Given the description of an element on the screen output the (x, y) to click on. 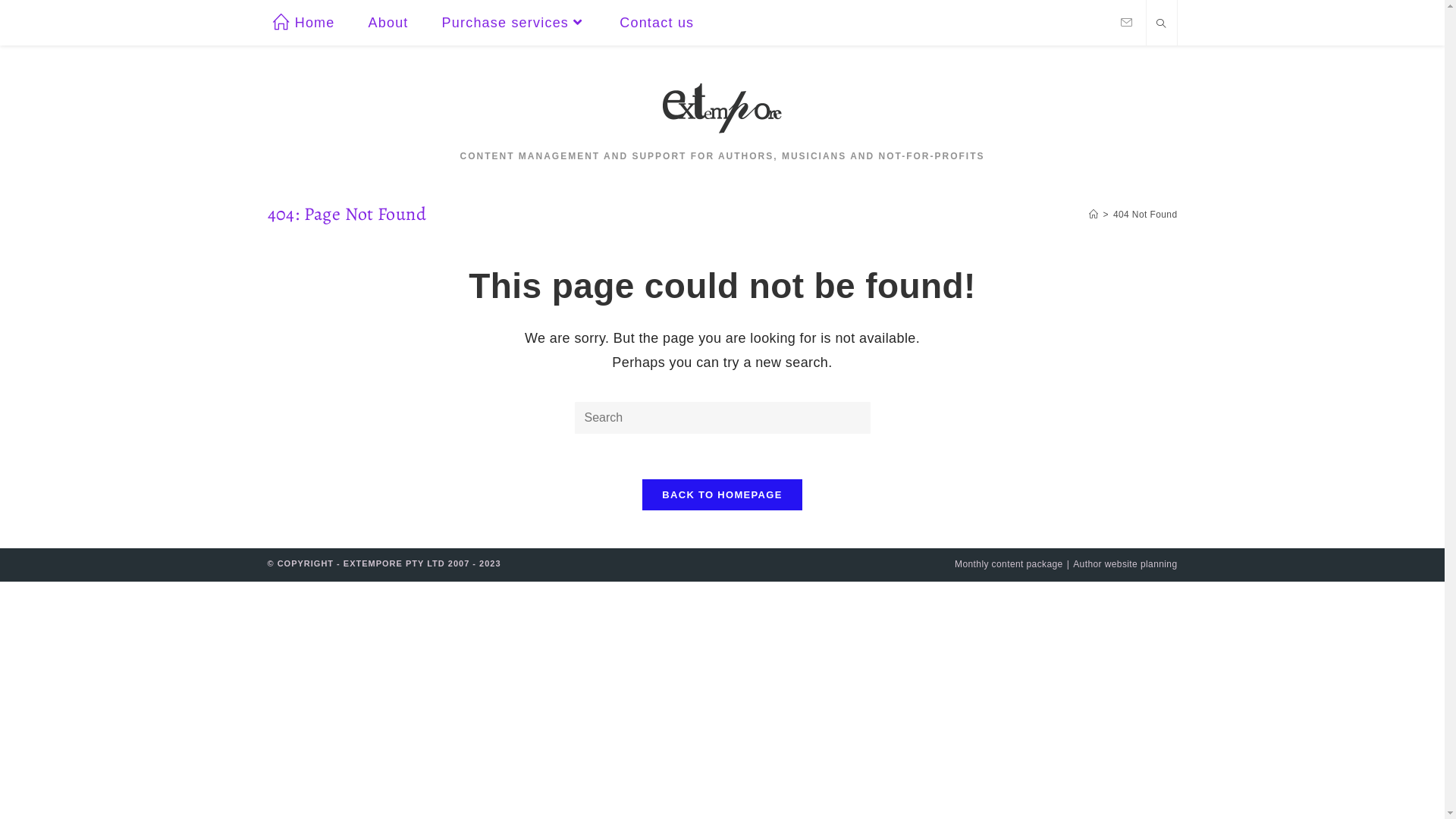
Monthly content package Element type: text (1008, 563)
Purchase services Element type: text (514, 22)
404 Not Found Element type: text (1145, 214)
About Element type: text (388, 22)
Contact us Element type: text (656, 22)
Author website planning Element type: text (1124, 563)
BACK TO HOMEPAGE Element type: text (721, 494)
Home Element type: text (303, 22)
